Given the description of an element on the screen output the (x, y) to click on. 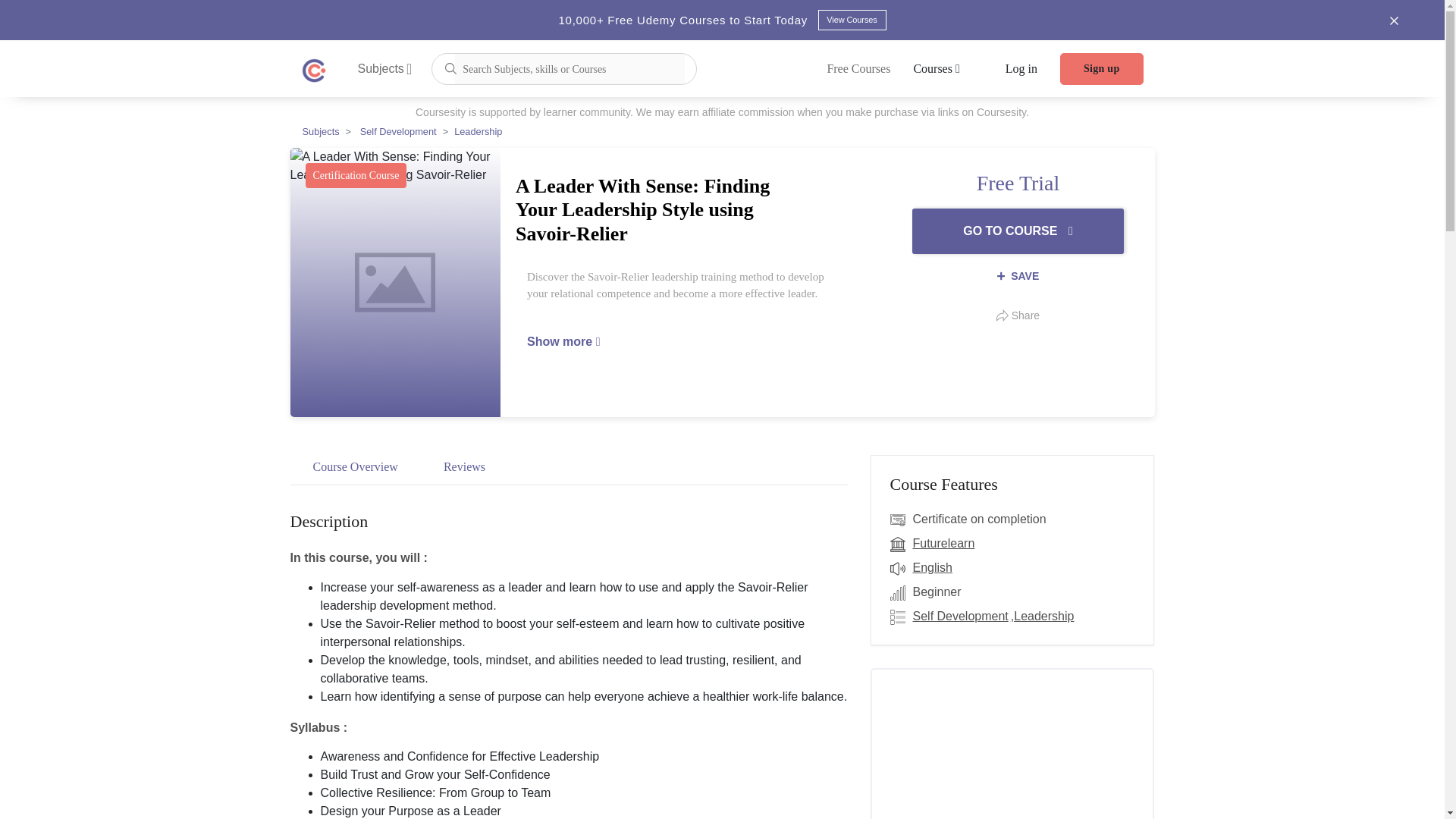
Topics (900, 616)
Level (900, 592)
Certification (900, 519)
Audio (900, 567)
Subjects (384, 68)
Submit the search query. (450, 67)
Offered by (900, 543)
View Courses (850, 19)
